Given the description of an element on the screen output the (x, y) to click on. 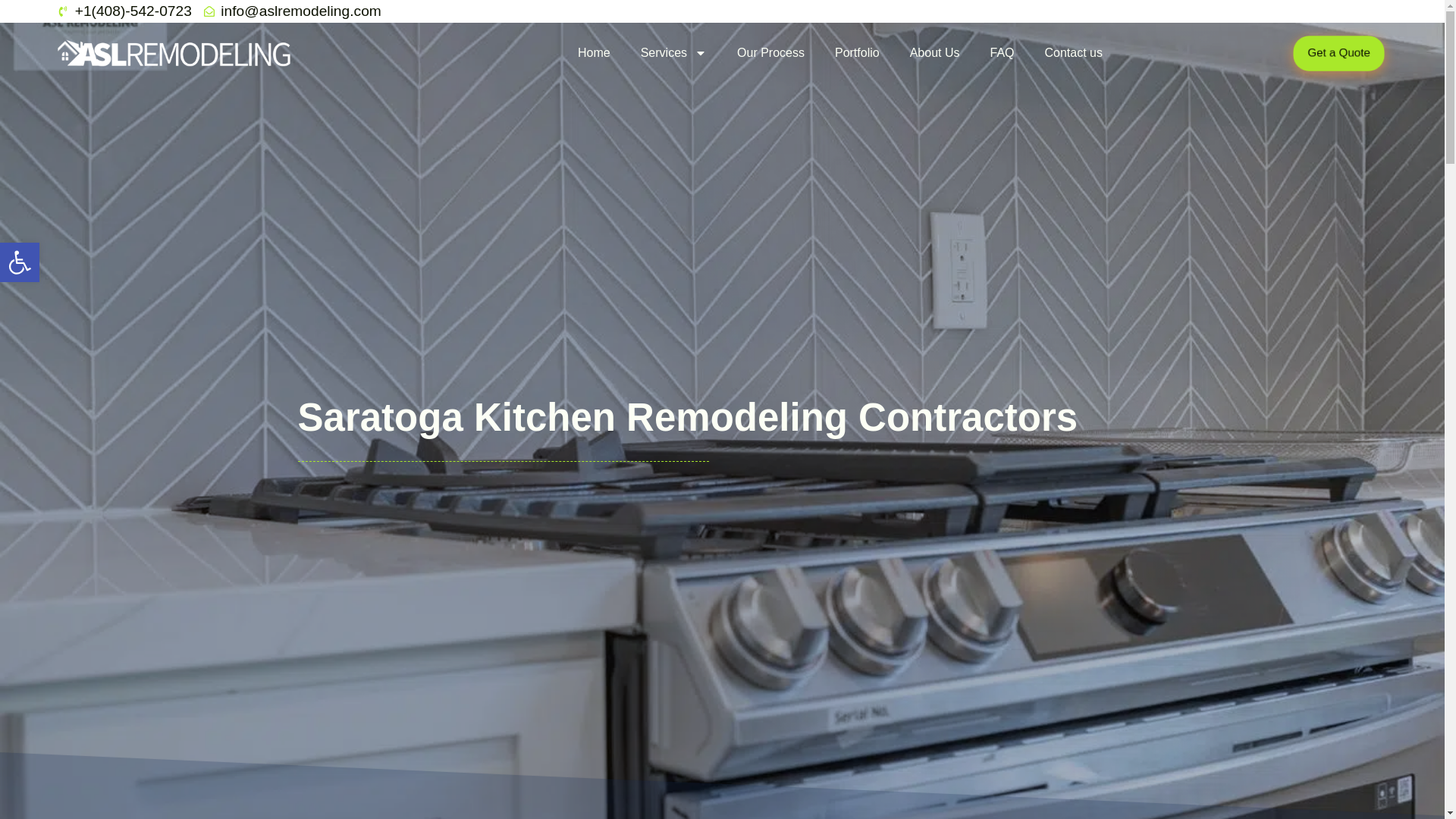
FAQ (1001, 53)
Home (594, 53)
Contact us (19, 261)
Portfolio (1073, 53)
Our Process (857, 53)
Accessibility Tools (770, 53)
Accessibility Tools (19, 262)
About Us (19, 261)
Services (935, 53)
